Given the description of an element on the screen output the (x, y) to click on. 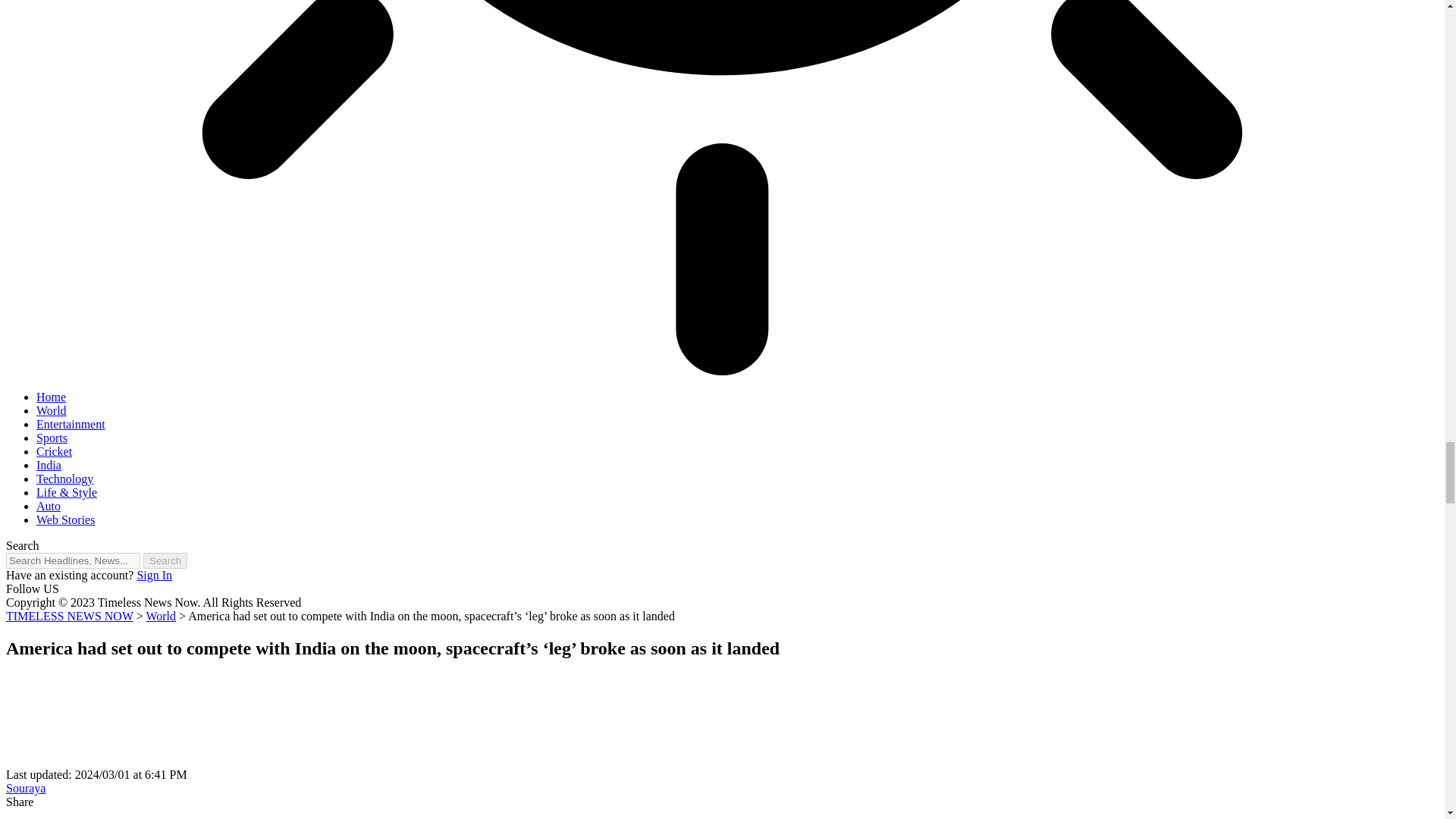
India (48, 464)
Sign In (153, 574)
Search (164, 560)
Go to the World Category archives. (160, 615)
Search (164, 560)
Auto (48, 505)
TIMELESS NEWS NOW (69, 615)
Cricket (53, 451)
Web Stories (65, 519)
World (51, 410)
Sports (51, 437)
Go to TIMELESS NEWS NOW. (69, 615)
Technology (64, 478)
Home (50, 396)
Entertainment (70, 423)
